Given the description of an element on the screen output the (x, y) to click on. 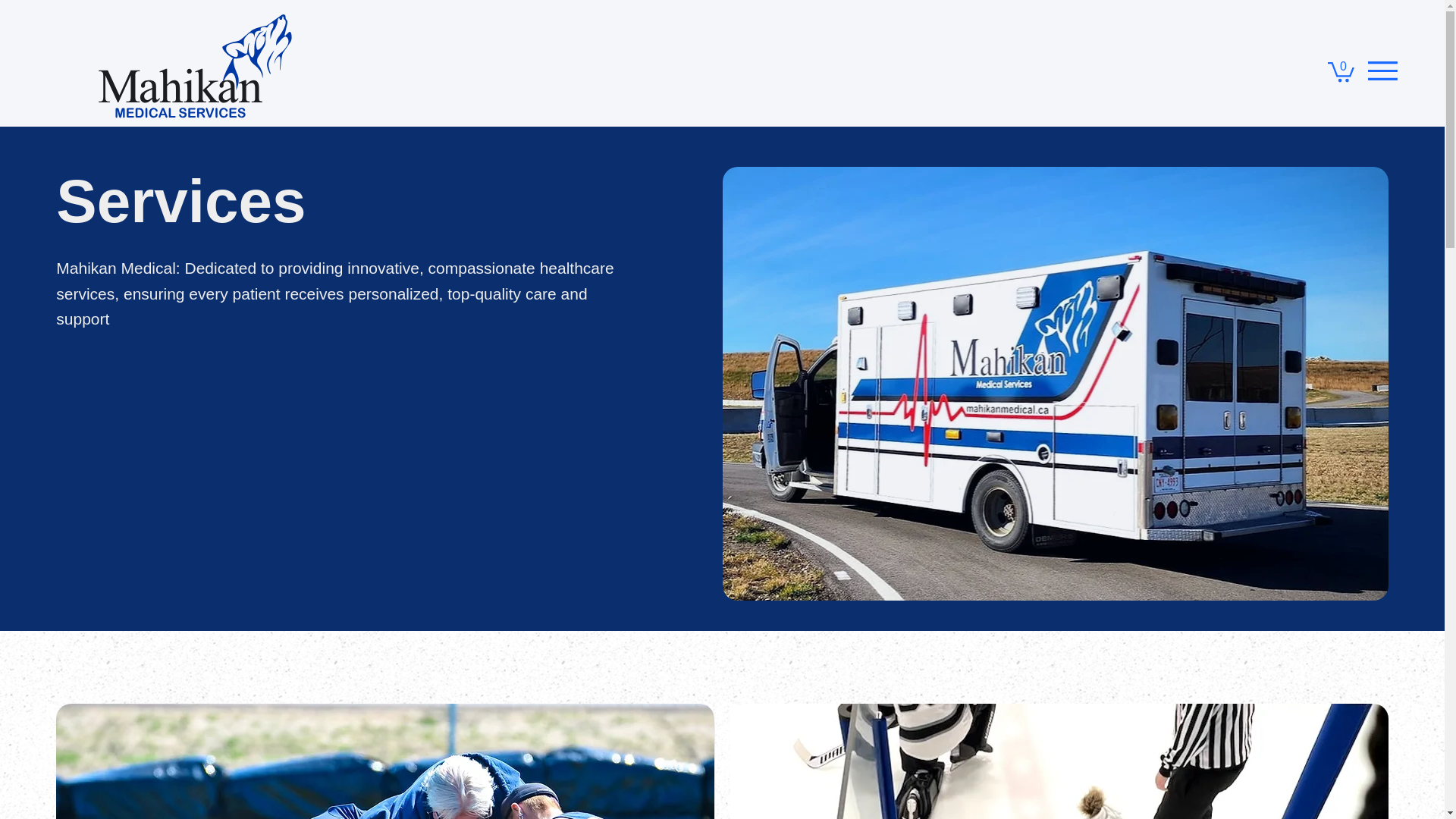
0 (1340, 70)
0 (1340, 70)
